Given the description of an element on the screen output the (x, y) to click on. 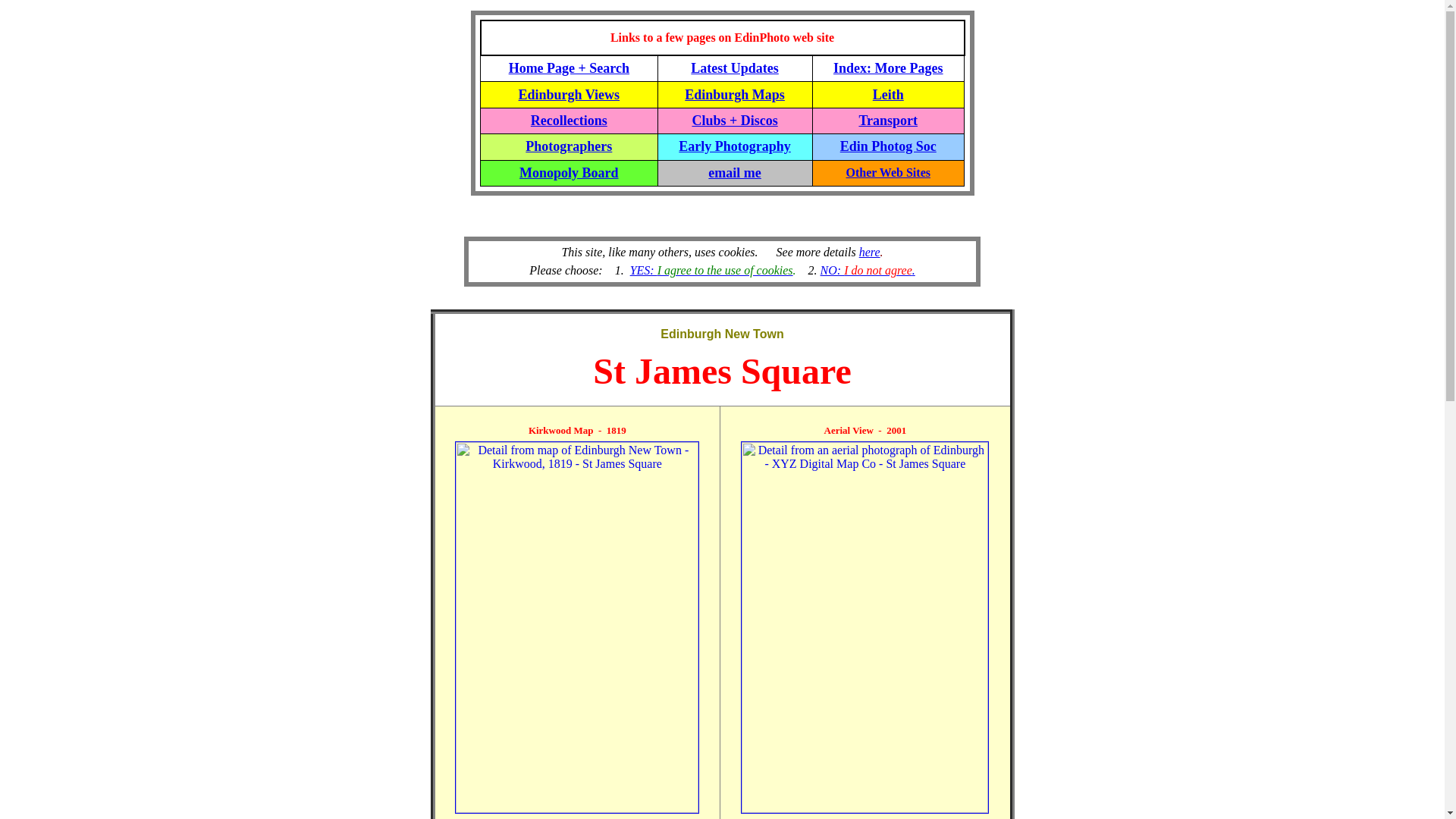
NO: I do not agree. (868, 269)
Edin Photog Soc (888, 145)
YES: I agree to the use of cookies (711, 269)
Edinburgh (690, 333)
Photographers (568, 145)
Recollections (569, 120)
Other Web Sites (887, 172)
Transport (888, 120)
Edinburgh Maps (734, 94)
Monopoly Board (568, 172)
email me (733, 172)
Edinburgh Views (569, 94)
Latest Updates (734, 68)
Leith (888, 94)
here (869, 251)
